Given the description of an element on the screen output the (x, y) to click on. 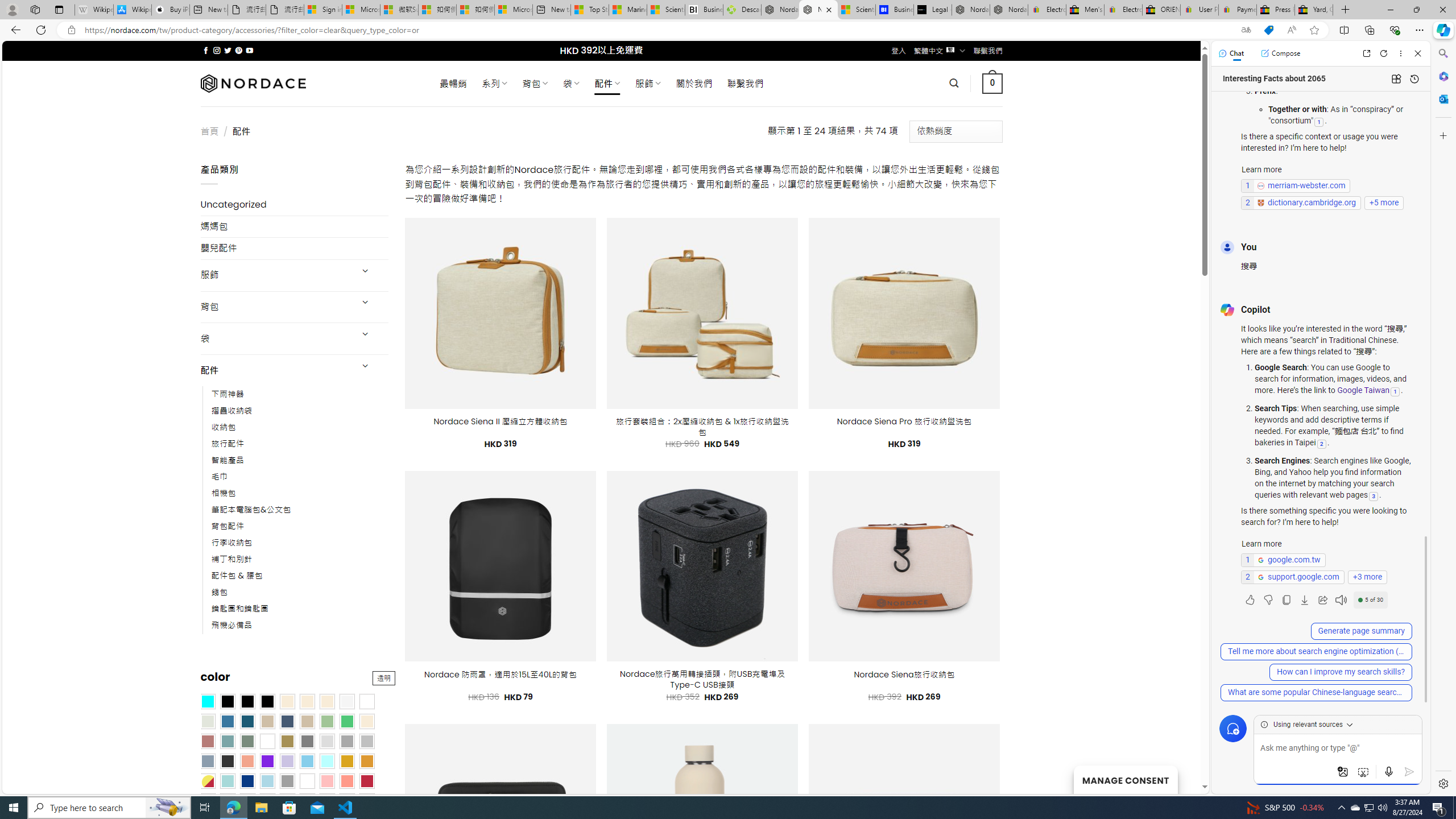
 0  (992, 83)
